Given the description of an element on the screen output the (x, y) to click on. 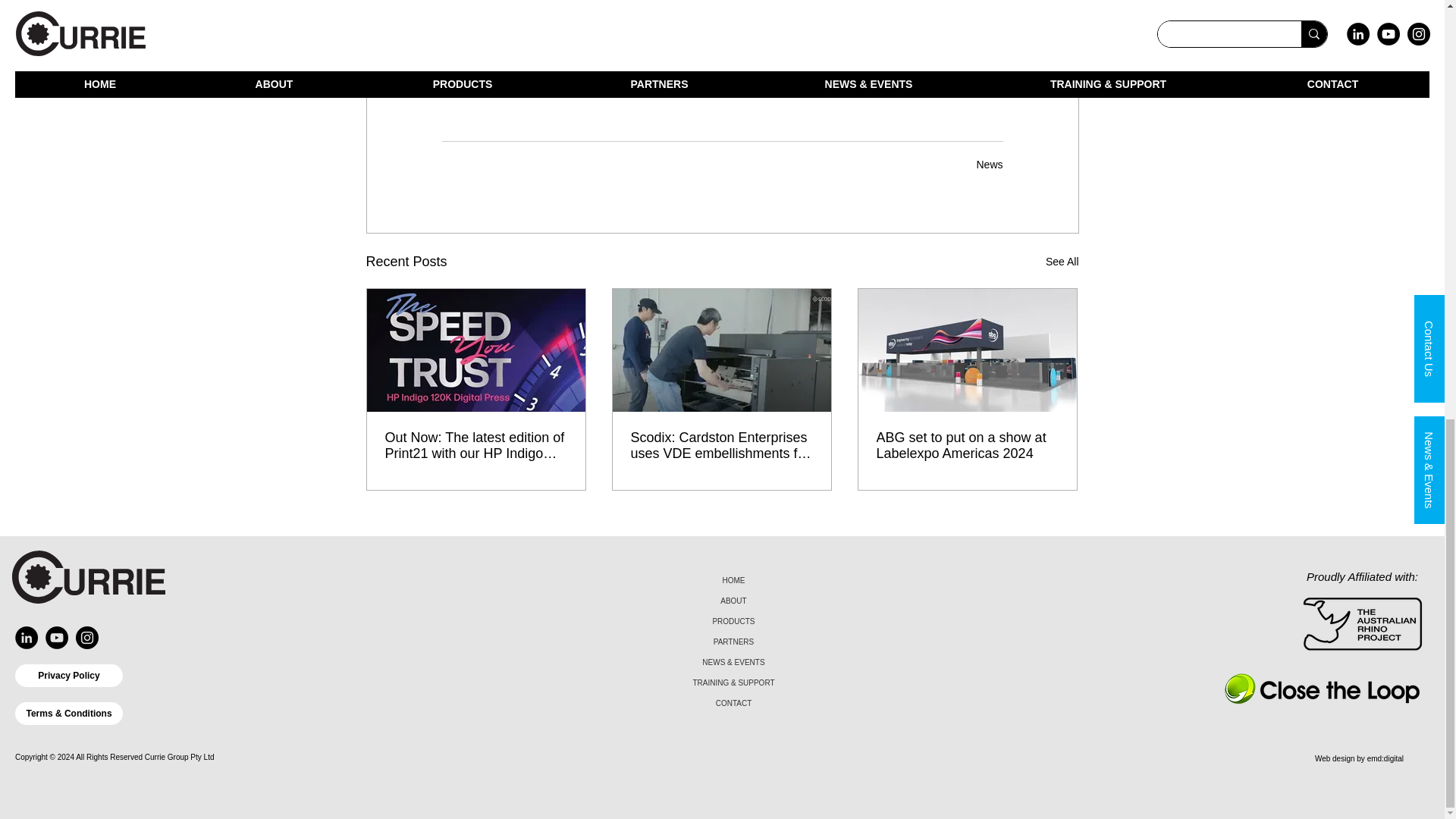
See All (1061, 261)
News (989, 164)
CONTACT CURRIE GROUP (722, 7)
ABG set to put on a show at Labelexpo Americas 2024 (967, 445)
